Given the description of an element on the screen output the (x, y) to click on. 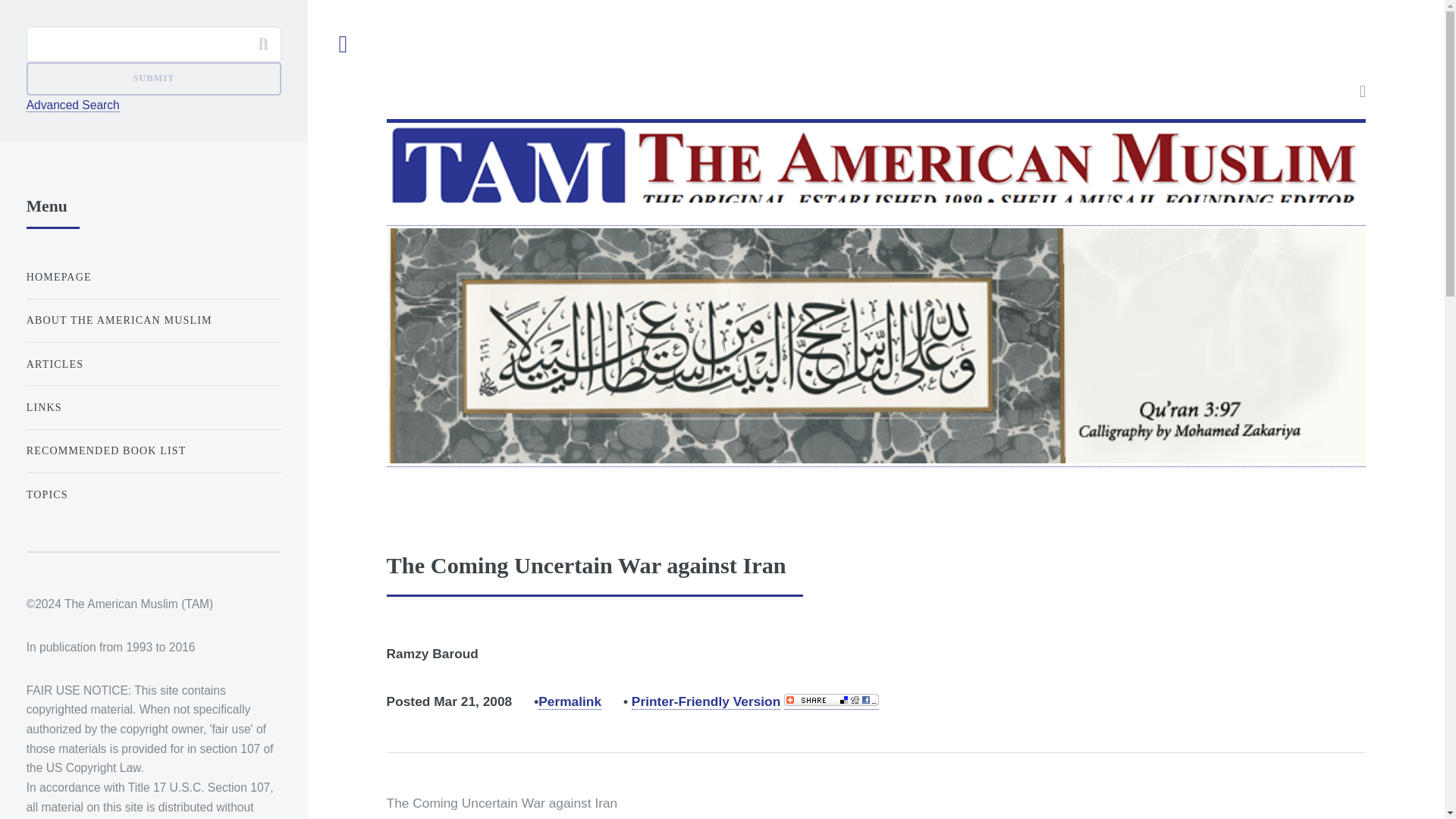
ABOUT THE AMERICAN MUSLIM (153, 320)
TOPICS (153, 494)
submit (153, 78)
LINKS (153, 407)
RECOMMENDED BOOK LIST  (153, 450)
Advanced Search (72, 105)
submit (153, 78)
HOMEPAGE (153, 276)
Permalink (569, 701)
Printer-Friendly Version (705, 701)
